Given the description of an element on the screen output the (x, y) to click on. 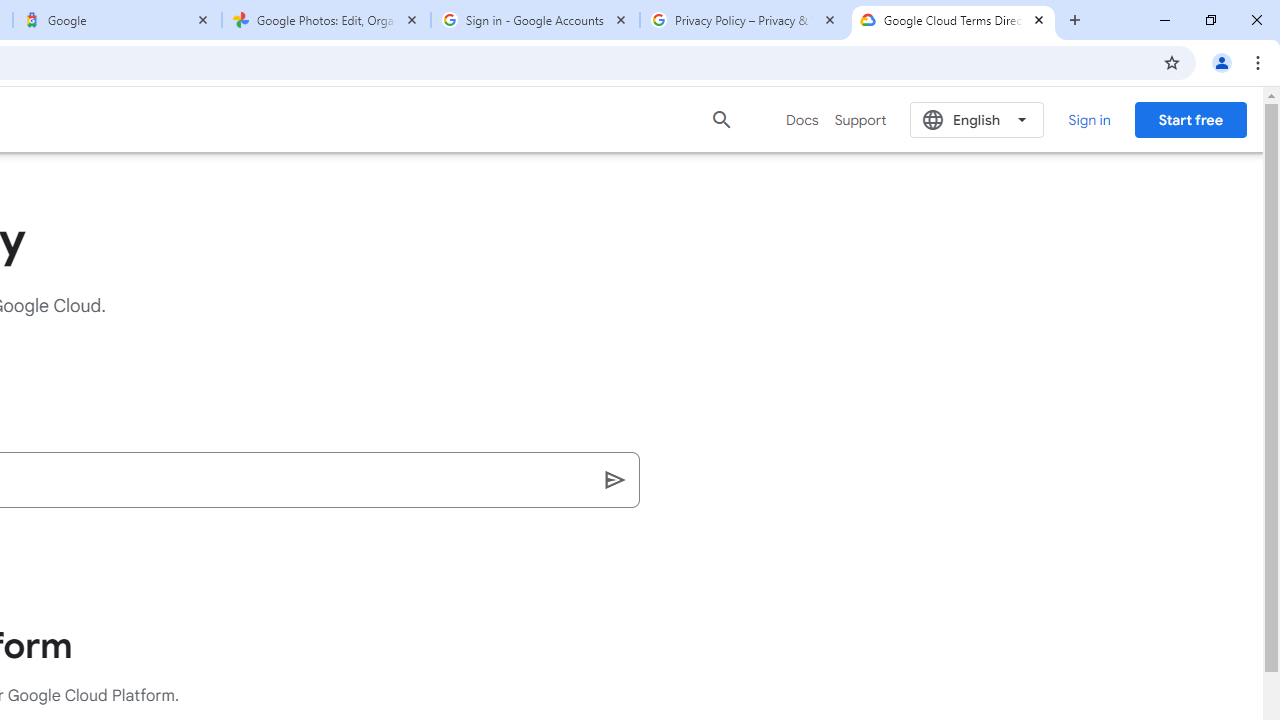
Support (860, 119)
Google Cloud Terms Directory | Google Cloud (953, 20)
